Given the description of an element on the screen output the (x, y) to click on. 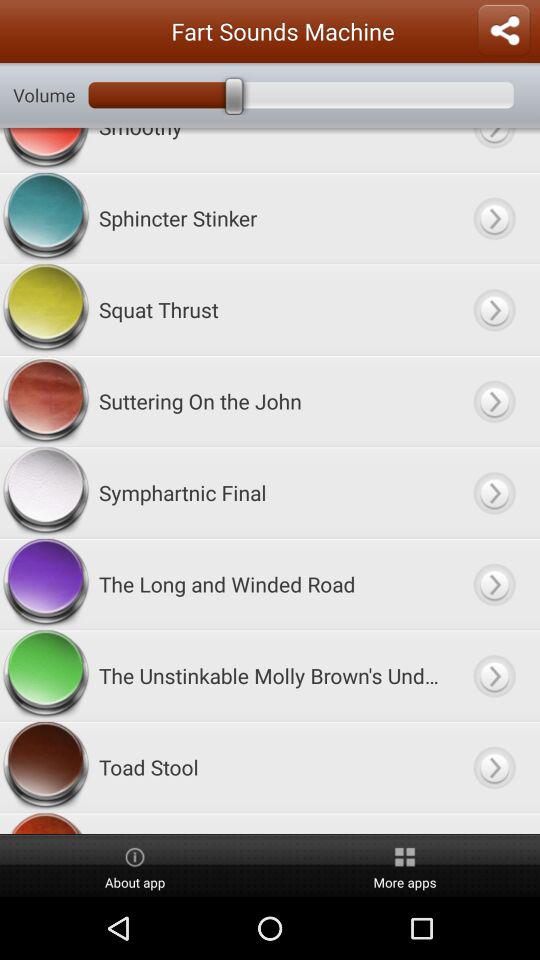
launch item above the about app (269, 823)
